Given the description of an element on the screen output the (x, y) to click on. 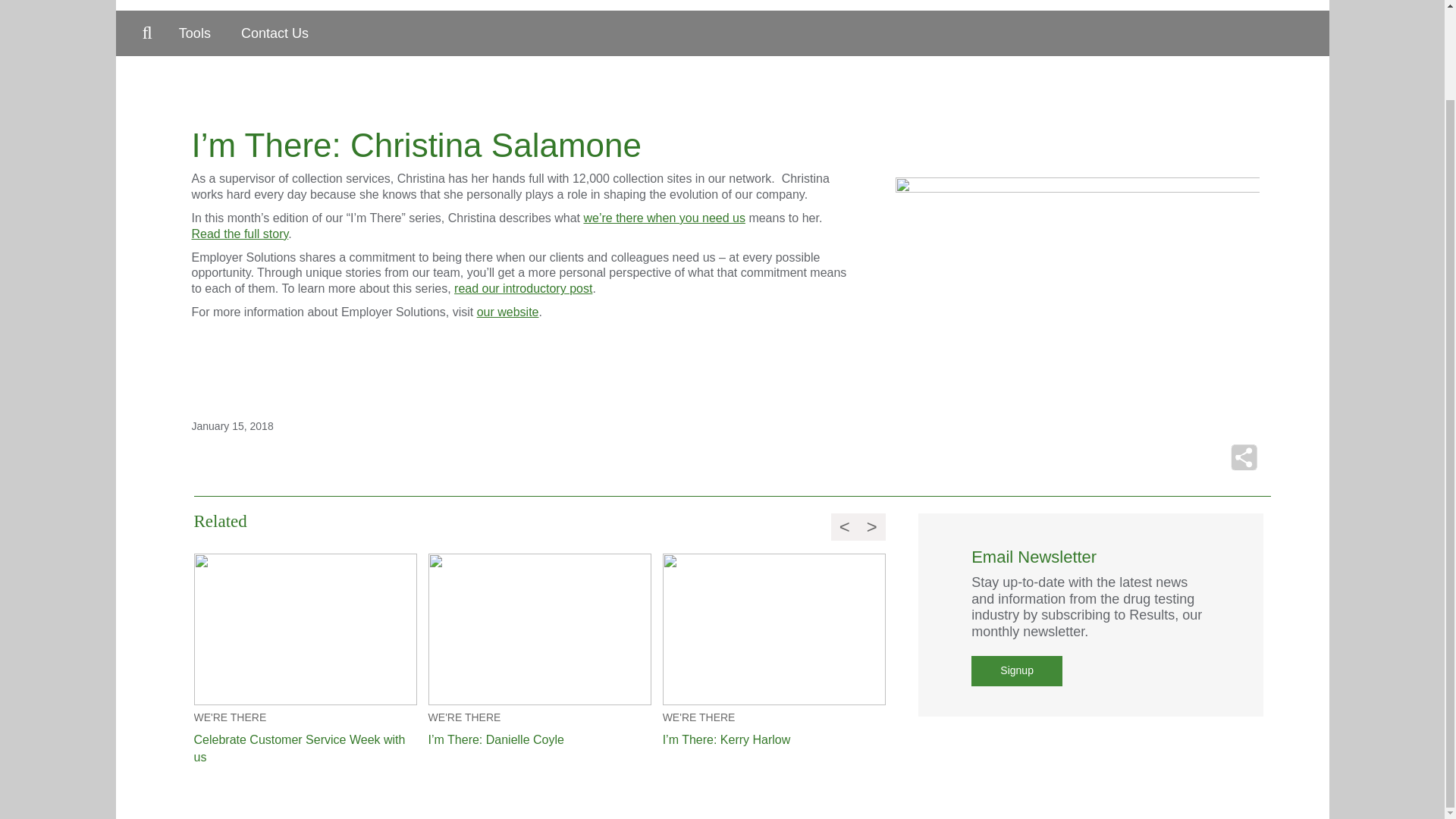
Celebrate Customer Service Week with us (304, 749)
Tools (194, 33)
our website (507, 311)
read our introductory post (523, 287)
Contact Us (275, 33)
Read the full story (239, 233)
